Given the description of an element on the screen output the (x, y) to click on. 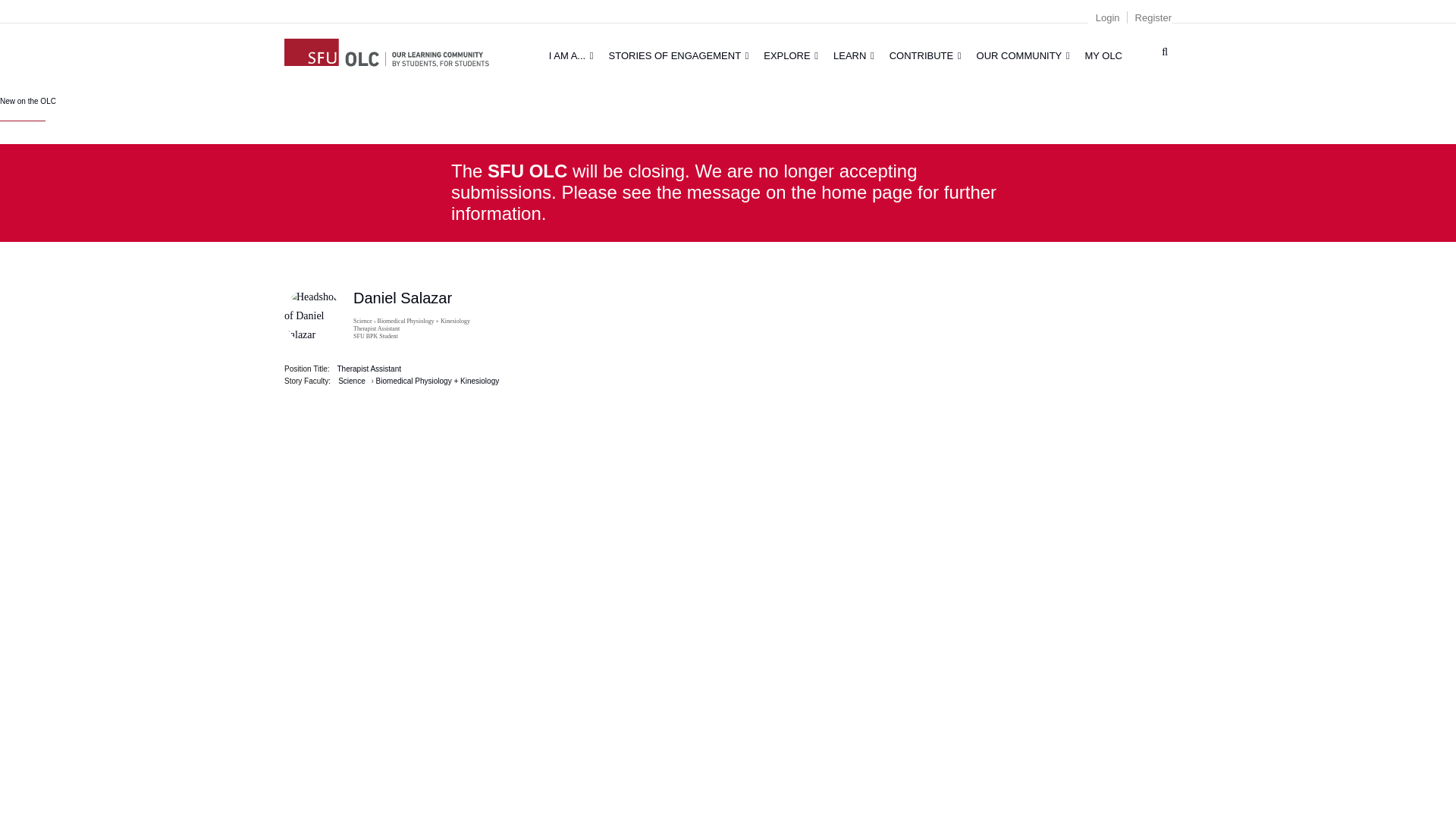
Register (1153, 17)
CONTRIBUTE (925, 55)
EXPLORE (790, 55)
Login (1107, 17)
LEARN (853, 55)
I AM A... (571, 55)
OUR COMMUNITY (1023, 55)
STORIES OF ENGAGEMENT (679, 55)
Home (302, 46)
